Given the description of an element on the screen output the (x, y) to click on. 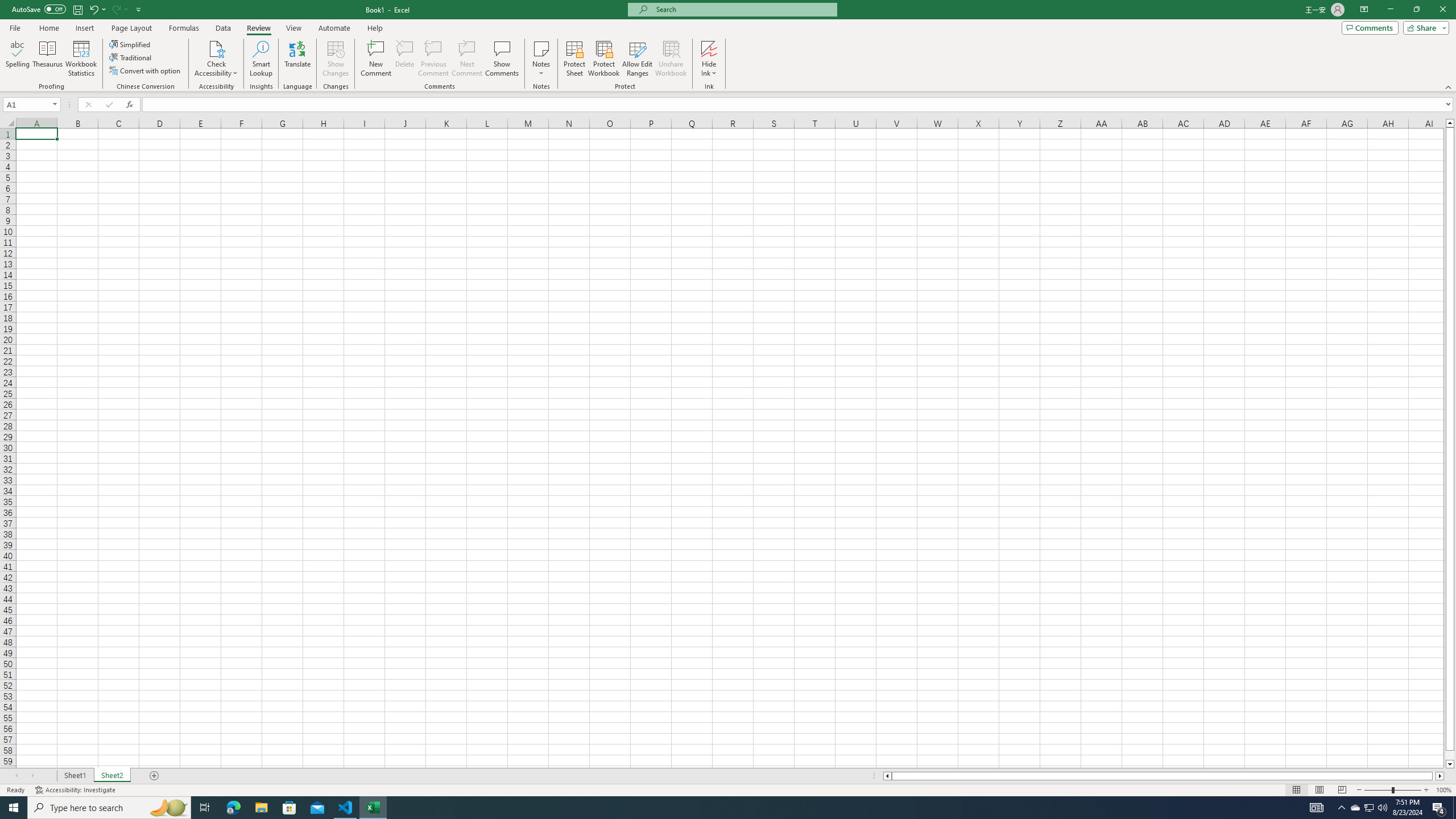
Spelling... (17, 58)
Smart Lookup (260, 58)
Workbook Statistics (81, 58)
Check Accessibility (215, 48)
